Given the description of an element on the screen output the (x, y) to click on. 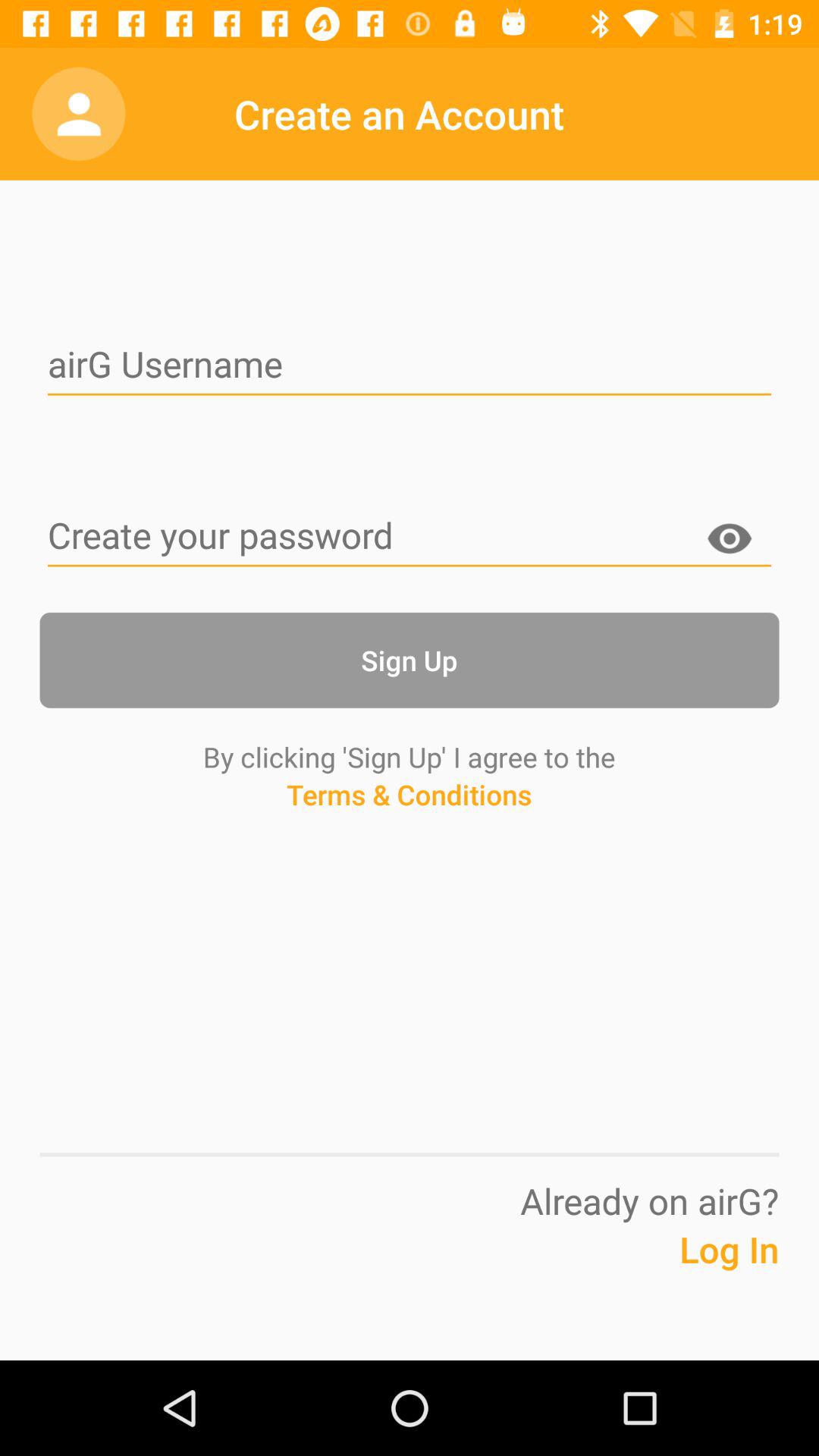
scroll to the log in item (691, 1272)
